Given the description of an element on the screen output the (x, y) to click on. 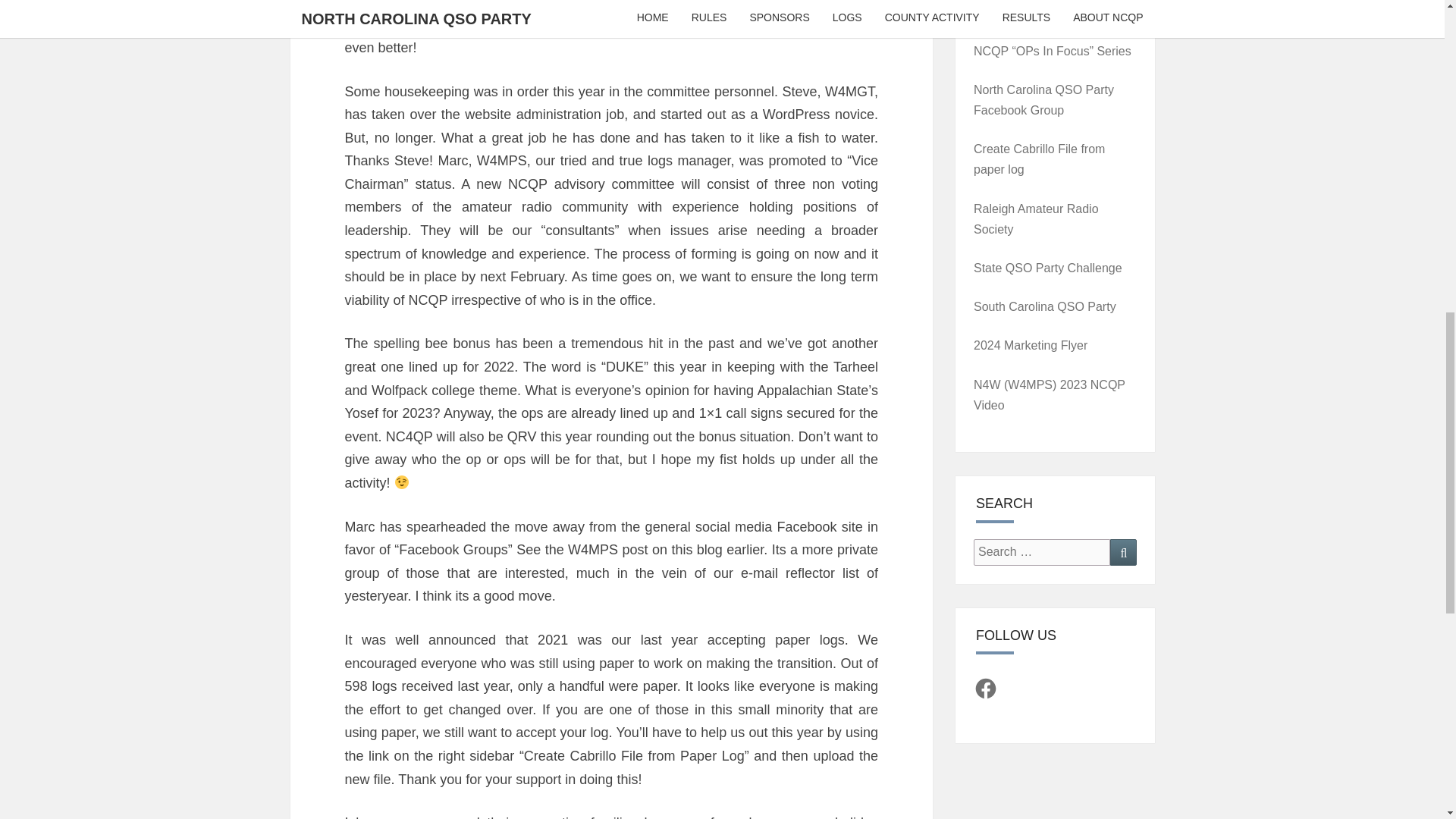
Create Cabrillo File from paper log (1039, 159)
North Carolina QSO Party Facebook Group (1043, 100)
Search for: (1041, 551)
Raleigh Amateur Radio Society (1036, 218)
2024 Marketing Flyer (1030, 345)
South Carolina QSO Party (1045, 306)
Search (1123, 551)
Facebook (985, 688)
State QSO Party Challenge (1048, 267)
